Given the description of an element on the screen output the (x, y) to click on. 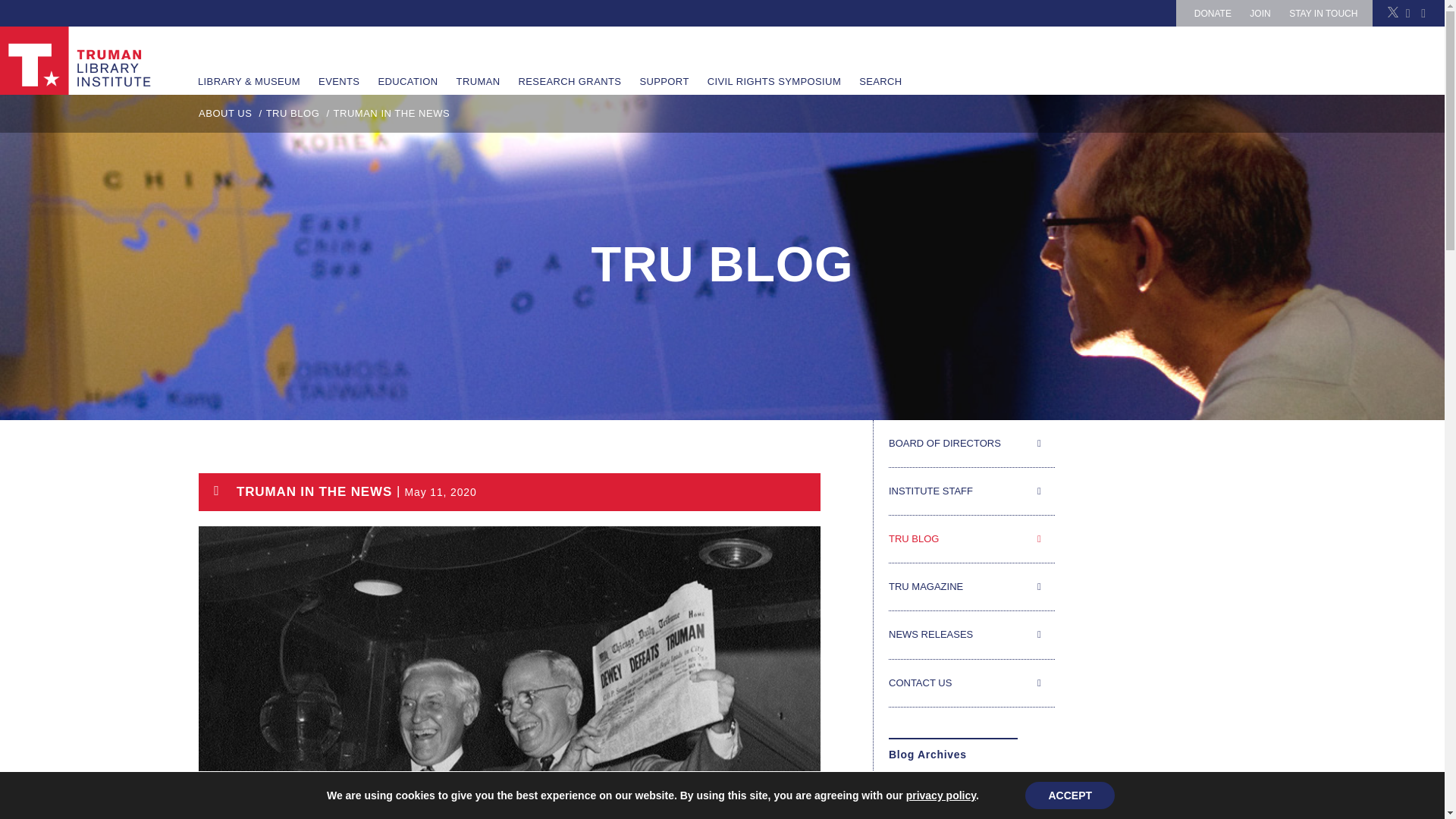
EDUCATION (407, 60)
Read more on 'Truman in the News' (509, 492)
Email (1422, 12)
Truman Library Institute (75, 60)
Stay in Touch (1322, 13)
Facebook (1407, 12)
Facebook (1407, 12)
Donate Now (1212, 13)
Join (1259, 13)
STAY IN TOUCH (1322, 13)
TRUMAN (477, 60)
DONATE (1212, 13)
Email (1422, 12)
JOIN (1259, 13)
